Given the description of an element on the screen output the (x, y) to click on. 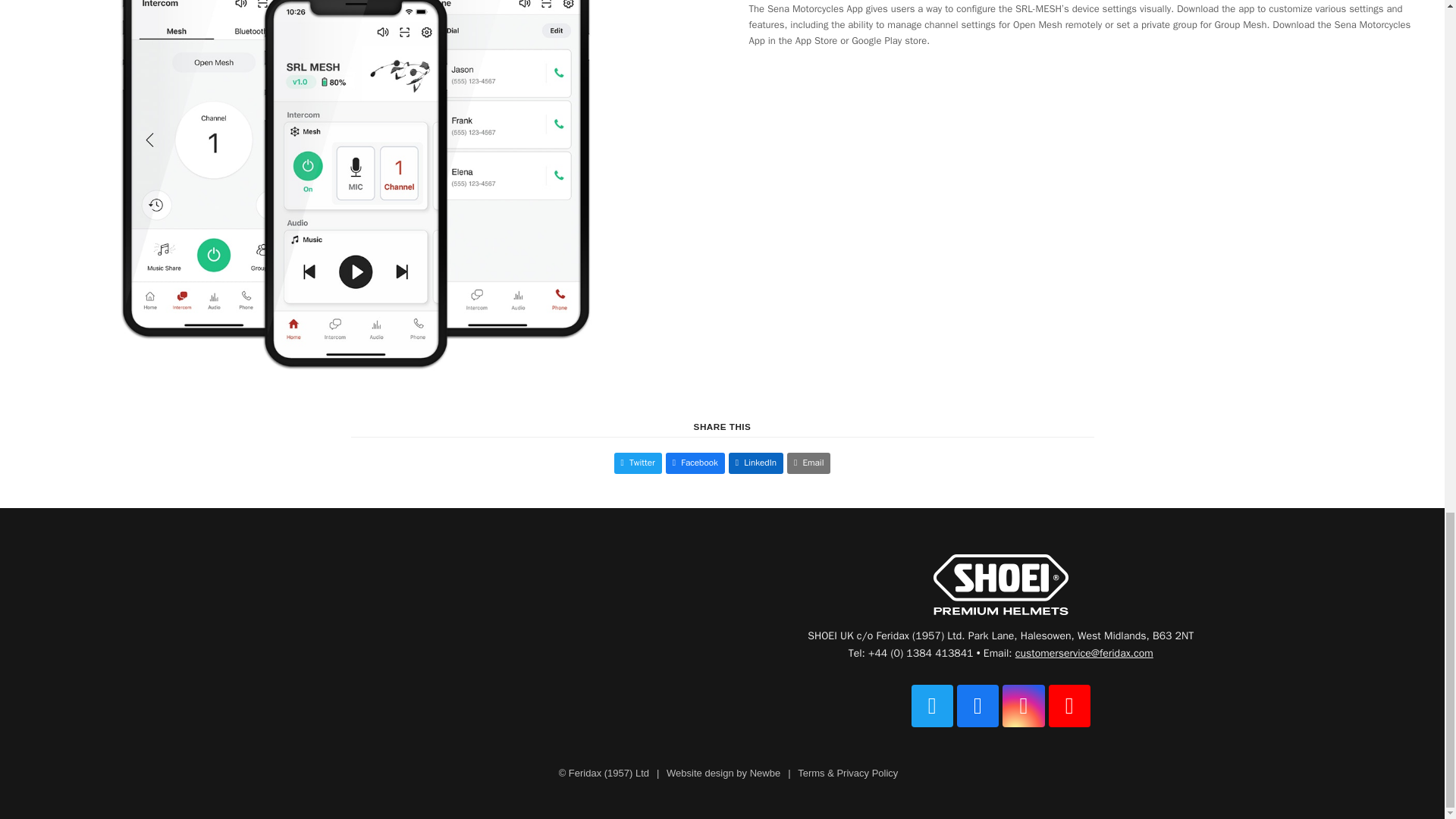
YouTube (1069, 705)
SHOEI ASSURED (1000, 584)
Facebook (977, 705)
Instagram (1023, 705)
Twitter (932, 705)
